Given the description of an element on the screen output the (x, y) to click on. 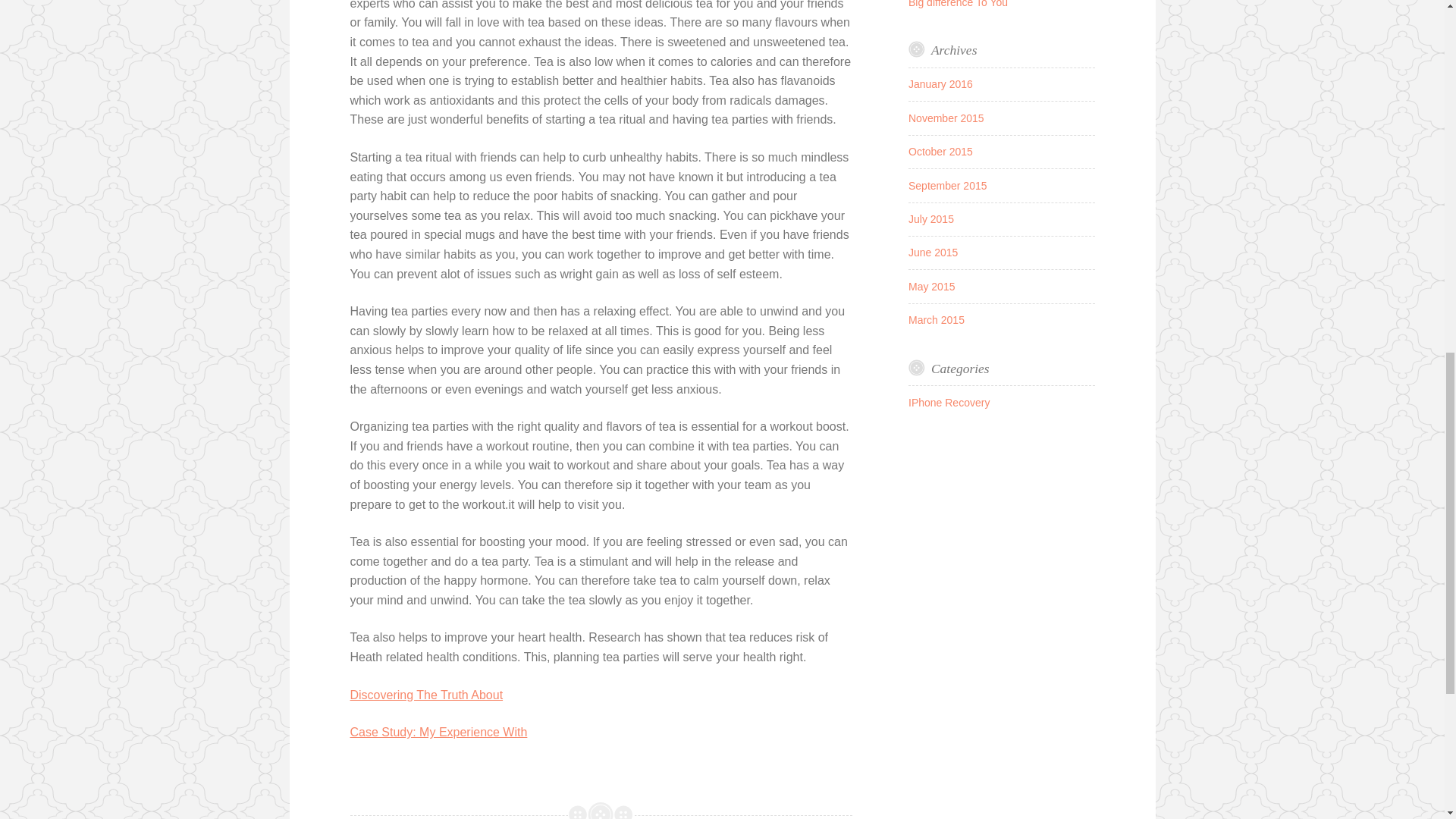
Case Study: My Experience With (438, 731)
May 2015 (931, 286)
July 2015 (930, 218)
June 2015 (933, 252)
November 2015 (946, 118)
The Iphone And How It Can Make A Big difference To You (992, 3)
Discovering The Truth About (426, 694)
March 2015 (935, 319)
September 2015 (947, 185)
October 2015 (940, 151)
January 2016 (940, 83)
IPhone Recovery (949, 402)
